Given the description of an element on the screen output the (x, y) to click on. 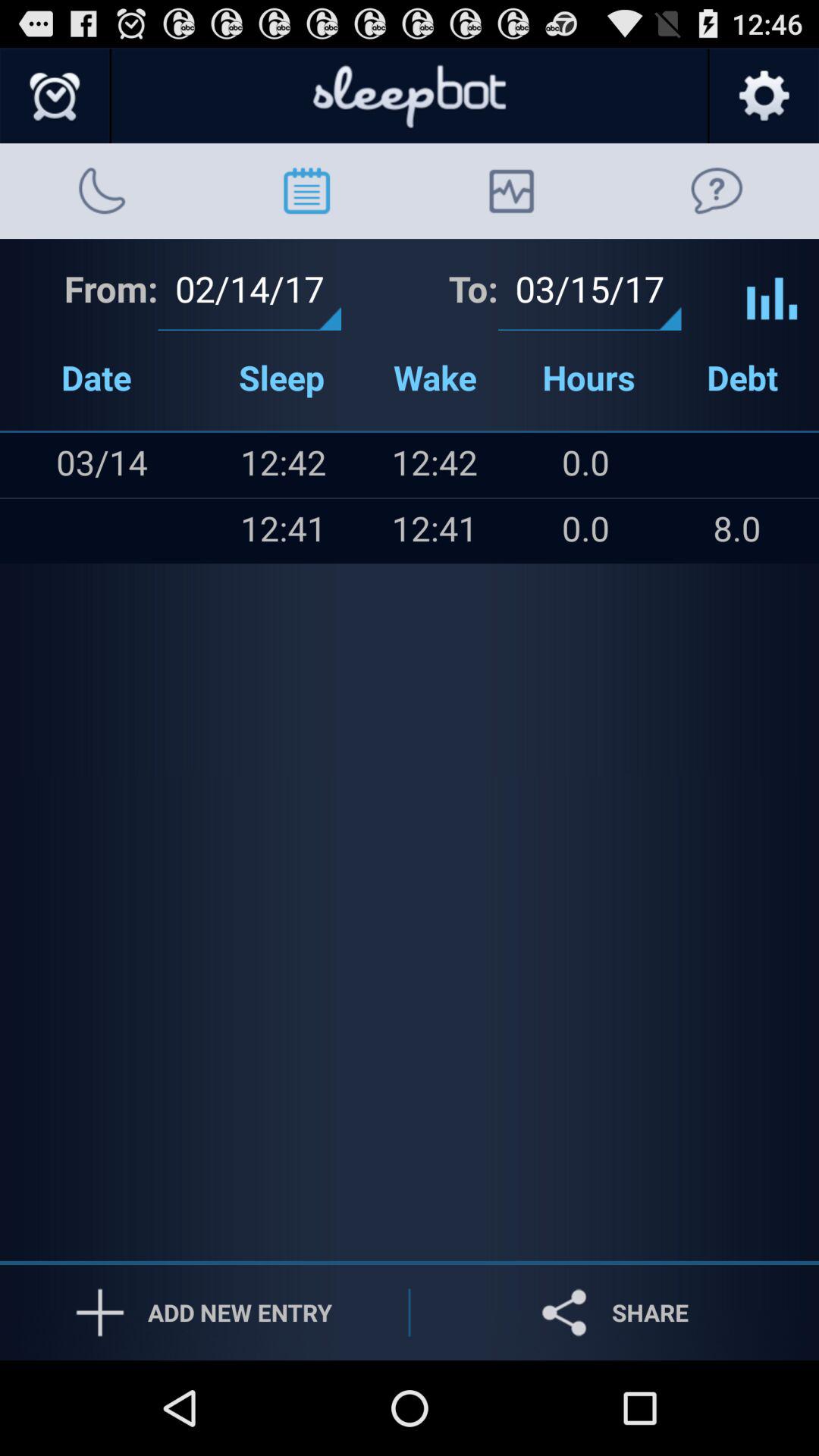
click app above the 0.0 icon (736, 465)
